Given the description of an element on the screen output the (x, y) to click on. 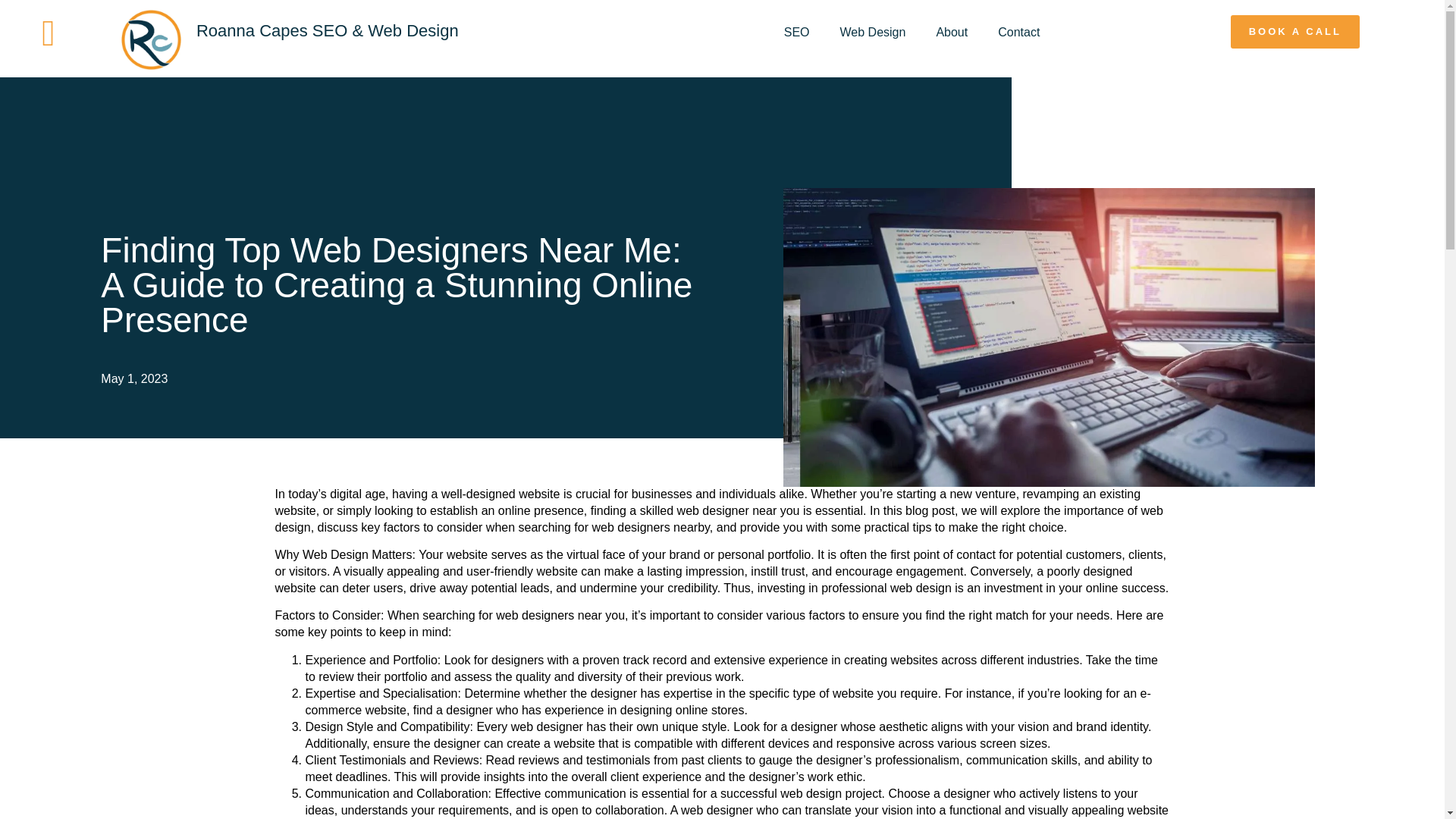
SEO (796, 32)
BOOK A CALL (1294, 31)
Contact (1018, 32)
Web Design (873, 32)
About (951, 32)
